Given the description of an element on the screen output the (x, y) to click on. 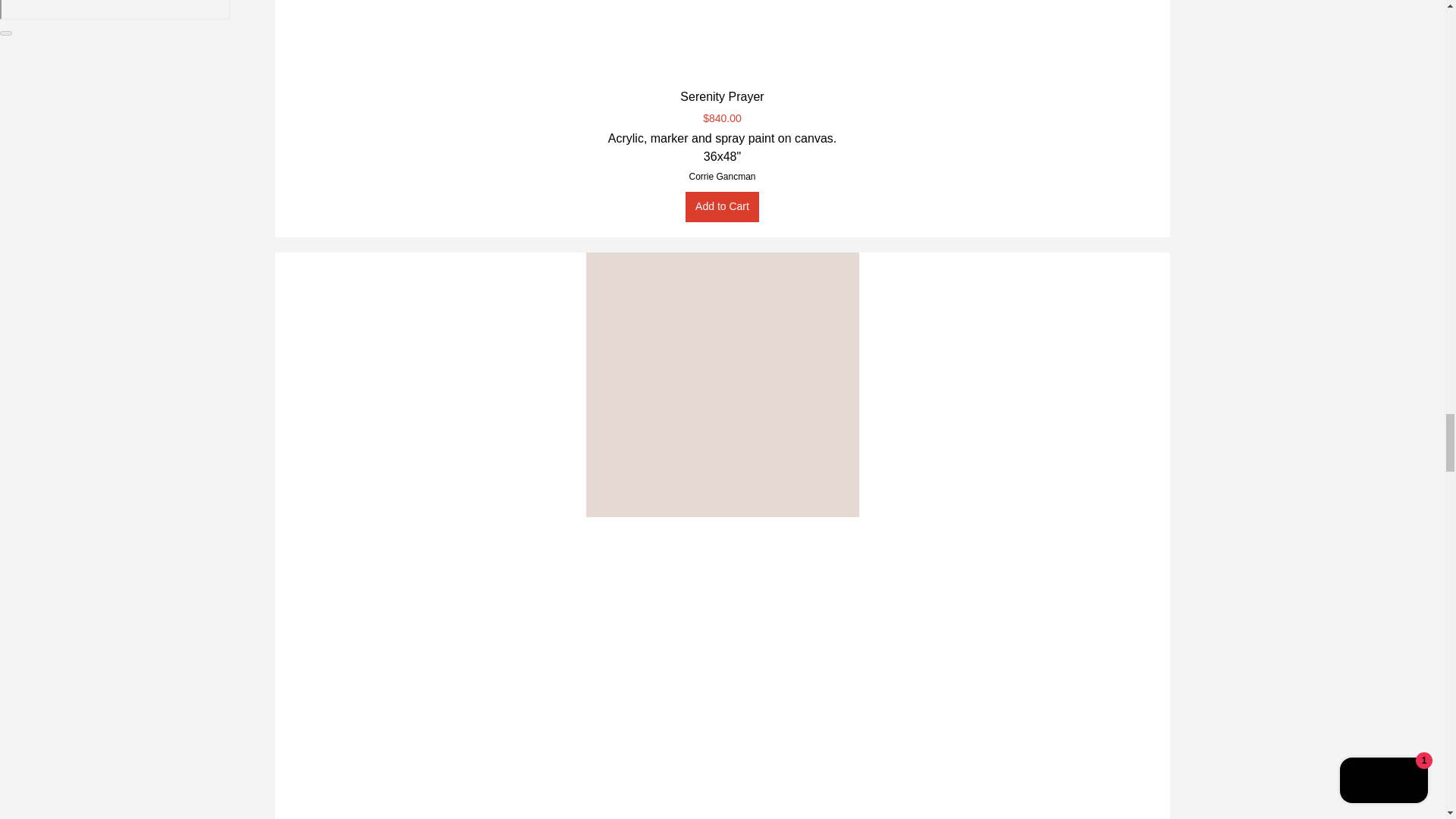
Add to Cart (721, 205)
